Given the description of an element on the screen output the (x, y) to click on. 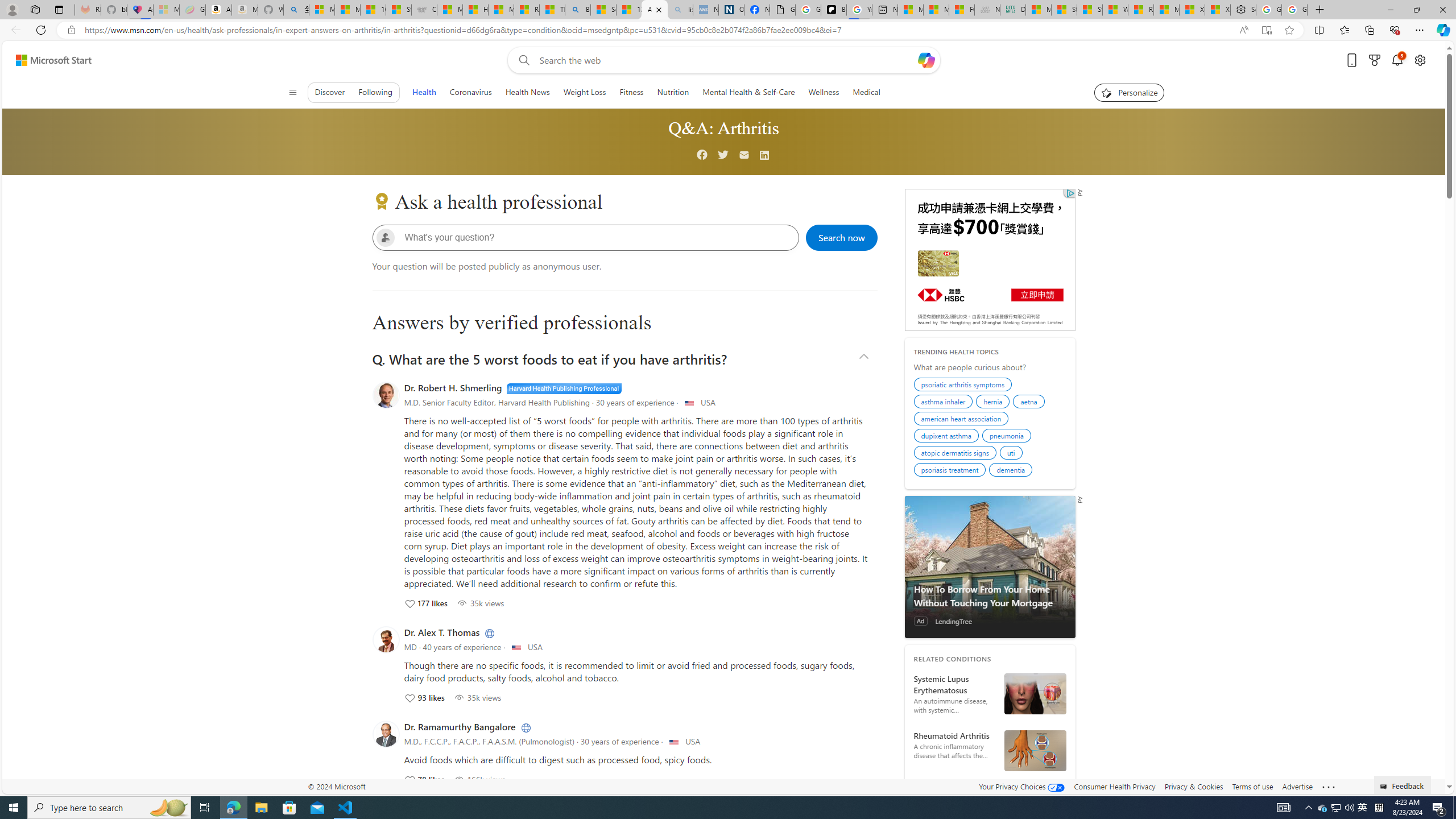
166504 View; Click to View (478, 779)
Coronavirus (470, 92)
Harvard health publishing professional (563, 387)
dementia (1012, 470)
asthma inhaler (944, 402)
psoriatic arthritis symptoms (964, 385)
LinkedIn (524, 726)
Your Privacy Choices (1021, 786)
